Given the description of an element on the screen output the (x, y) to click on. 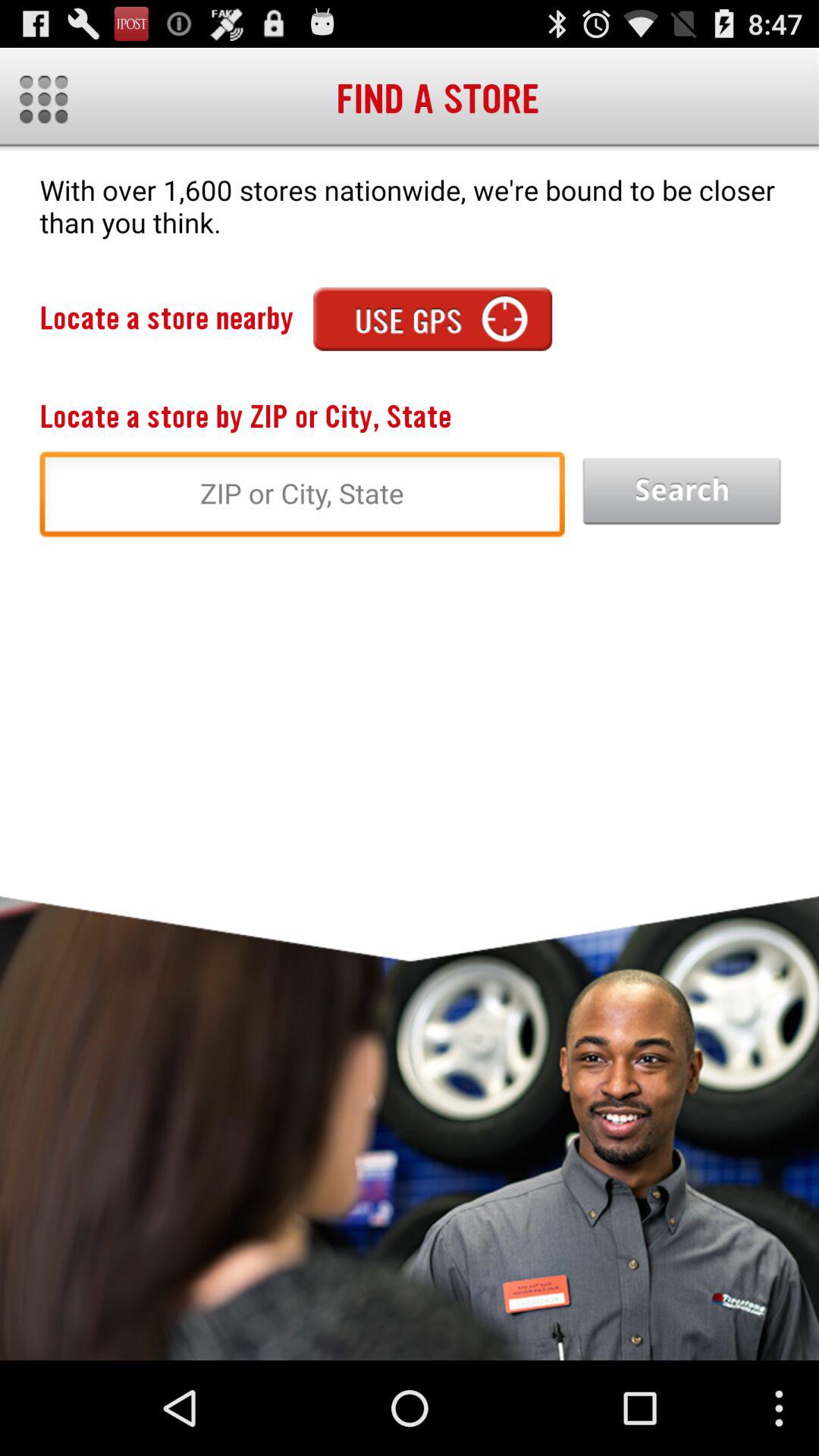
more button (43, 99)
